Given the description of an element on the screen output the (x, y) to click on. 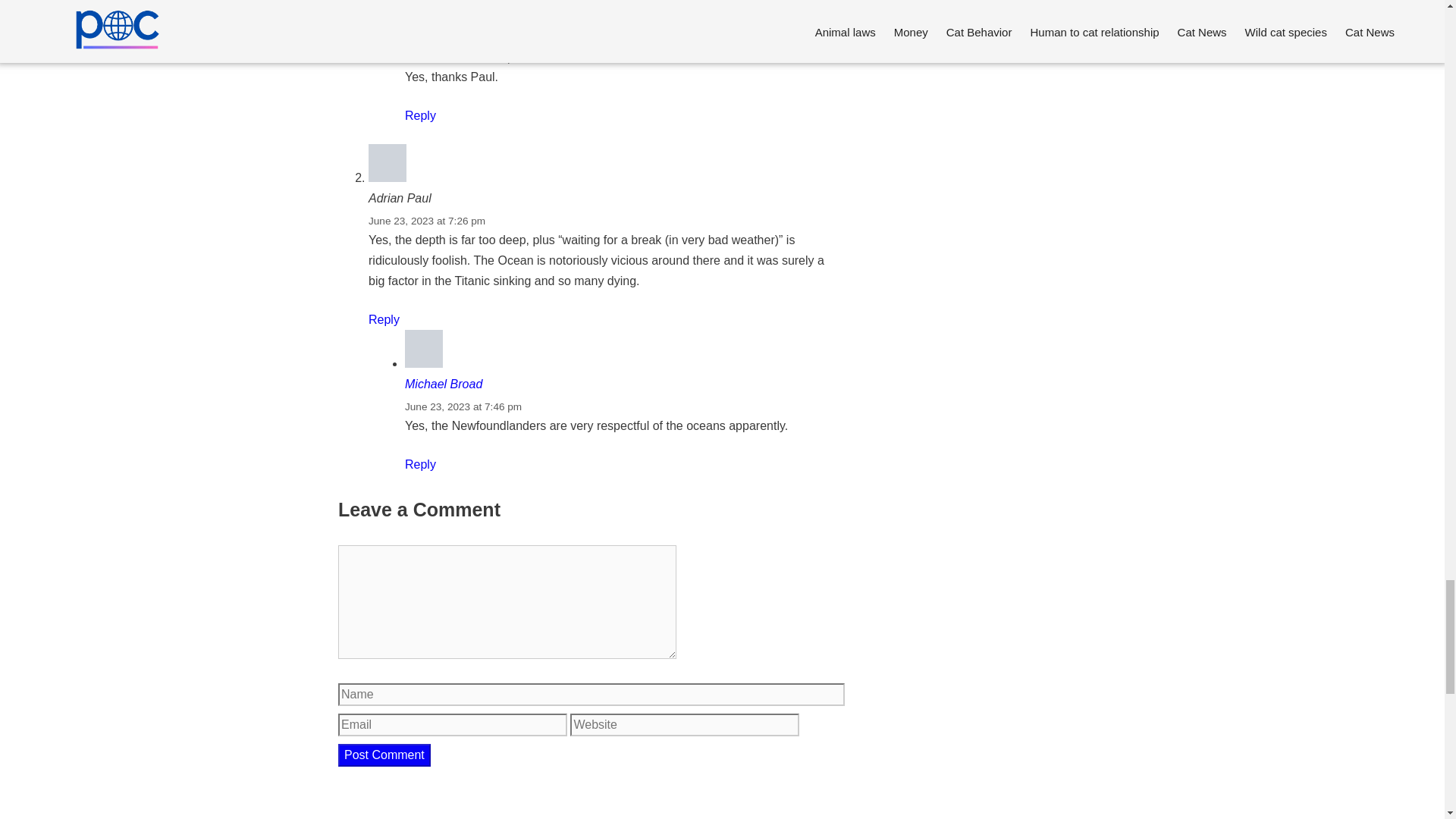
June 23, 2023 at 7:26 pm (426, 220)
Reply (419, 115)
Reply (383, 318)
Michael Broad (442, 34)
Michael Broad (442, 383)
June 23, 2023 at 7:46 pm (462, 57)
Post Comment (383, 754)
